Given the description of an element on the screen output the (x, y) to click on. 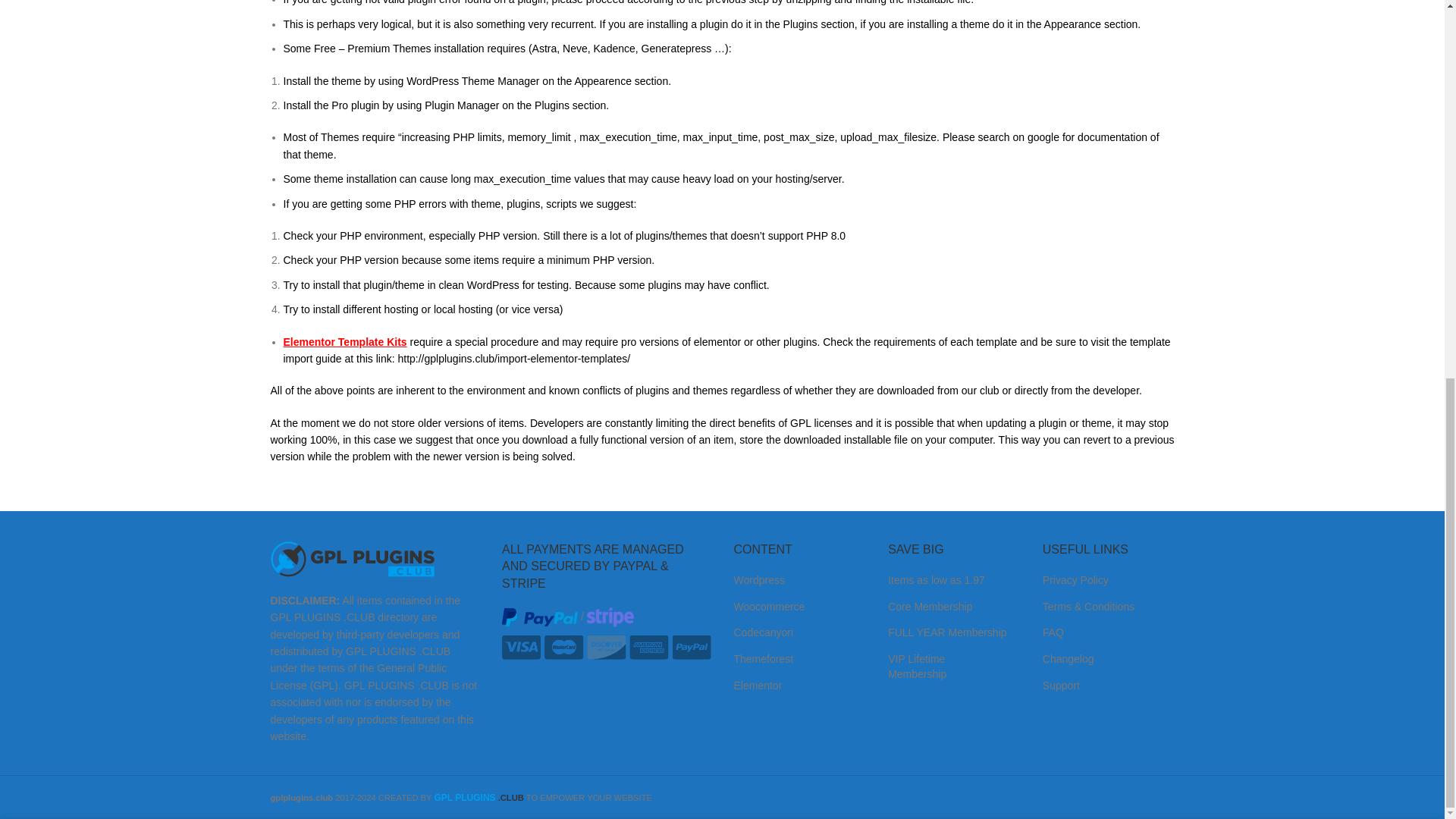
Wordpress (758, 580)
Codecanyon (763, 632)
Woocommerce (769, 606)
